Given the description of an element on the screen output the (x, y) to click on. 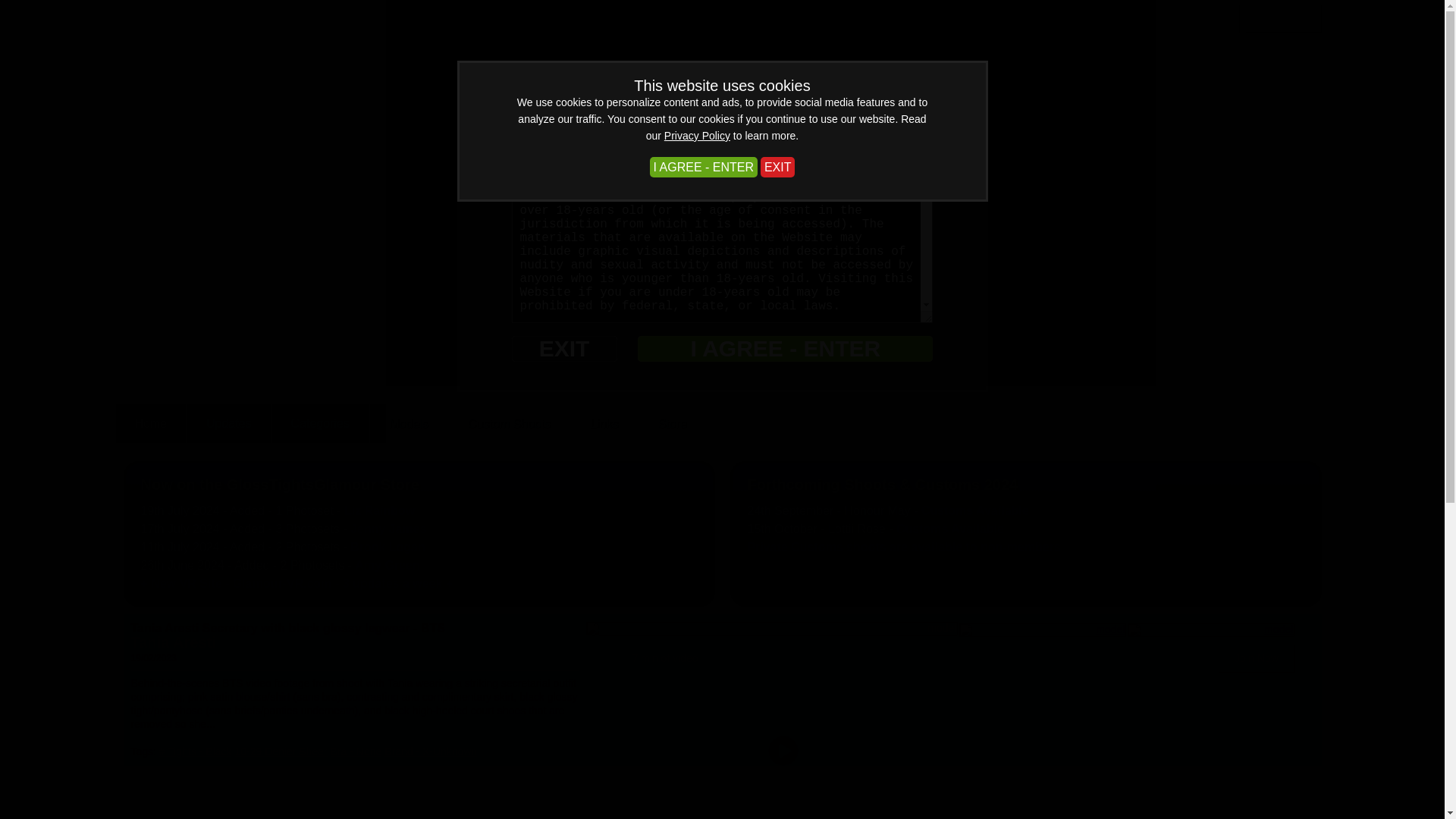
Models (408, 423)
Amy Green (387, 564)
Home (150, 423)
Liz Rainbow (378, 510)
Custom Shoots (509, 423)
Brook Logan (387, 546)
Categories (319, 423)
Bra - None (355, 751)
10-29 Denier Sheer (280, 751)
Jenny James (388, 528)
